Given the description of an element on the screen output the (x, y) to click on. 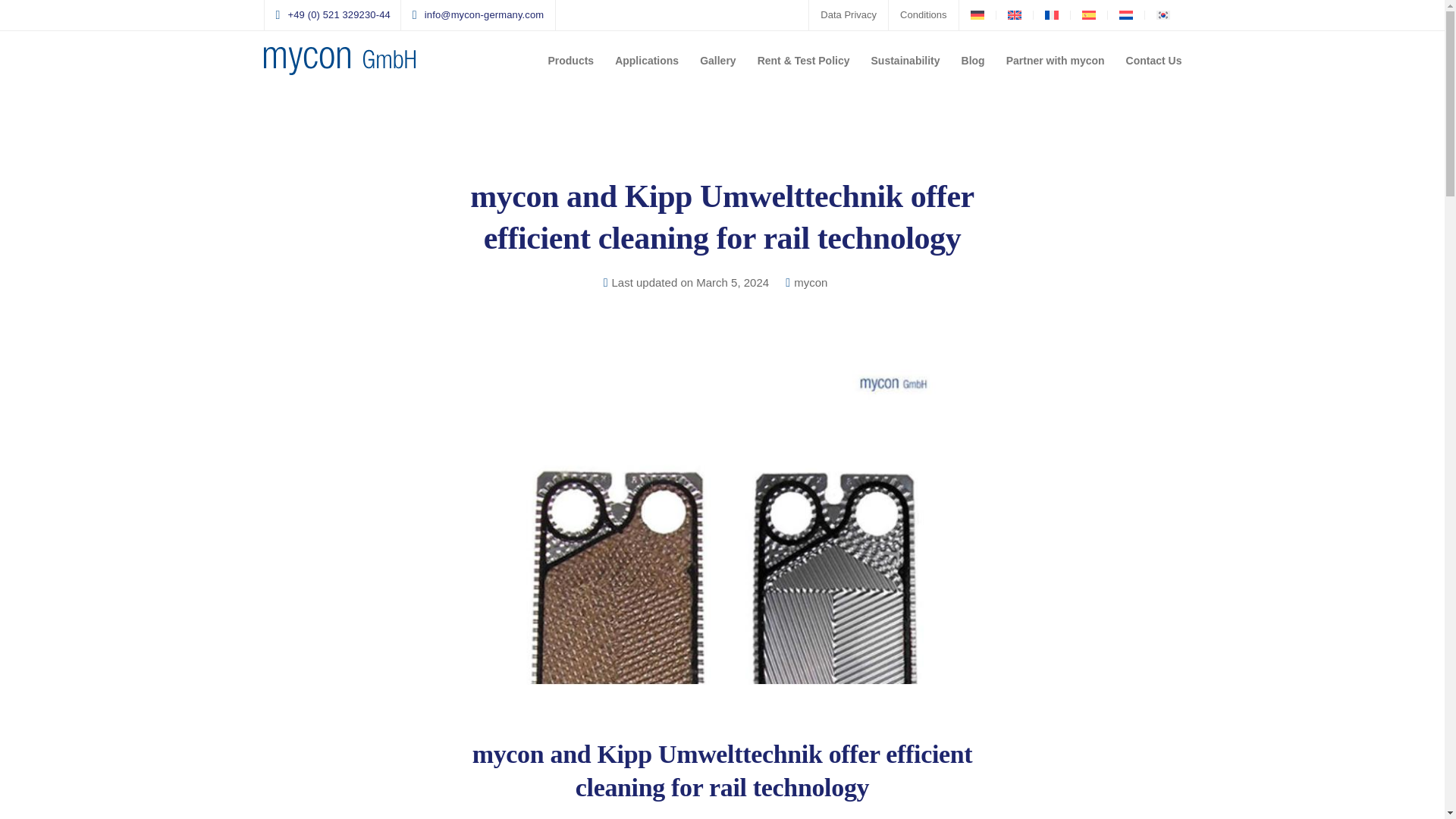
Partner with mycon (1055, 60)
Contact Us (1153, 60)
Conditions (922, 14)
Gallery (716, 60)
Posts by mycon (810, 282)
Applications (646, 60)
mycon (810, 282)
Products (570, 60)
Sustainability (905, 60)
Data Privacy (848, 14)
